Given the description of an element on the screen output the (x, y) to click on. 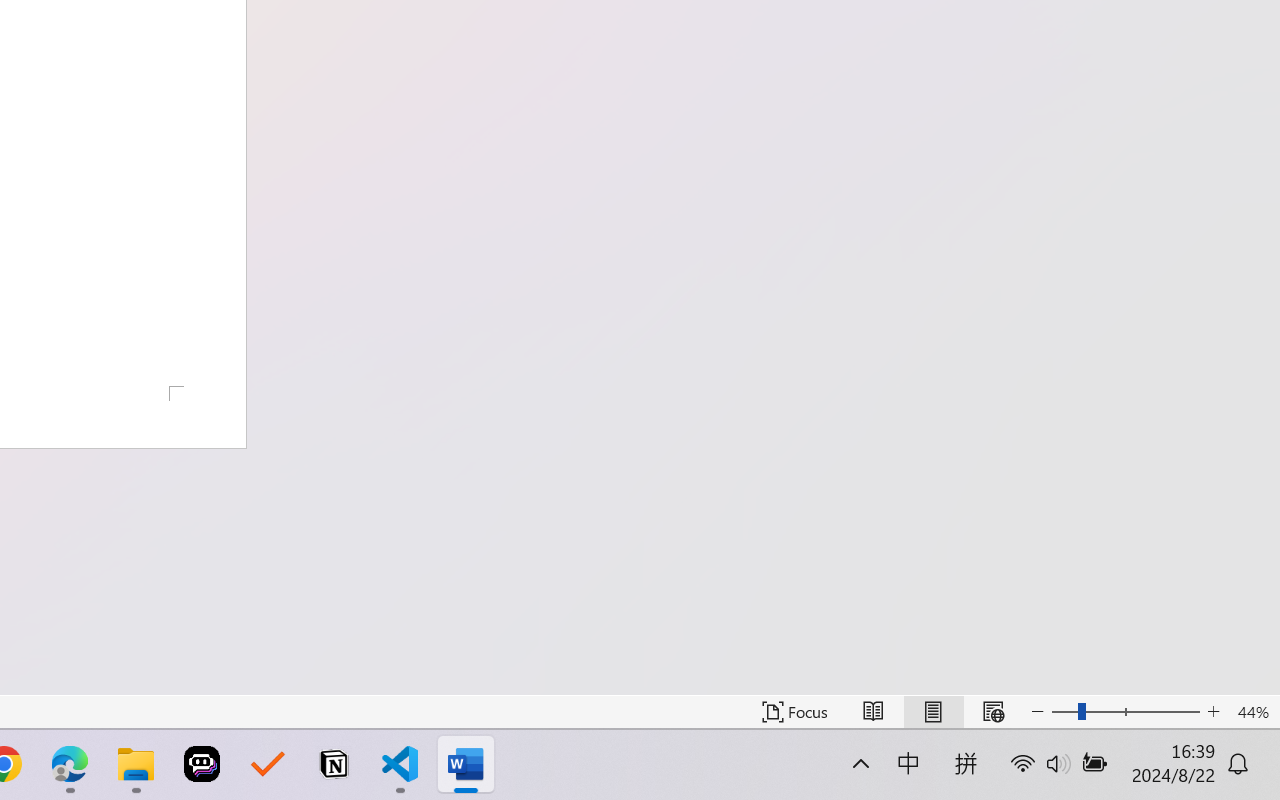
Zoom 44% (1253, 712)
